Given the description of an element on the screen output the (x, y) to click on. 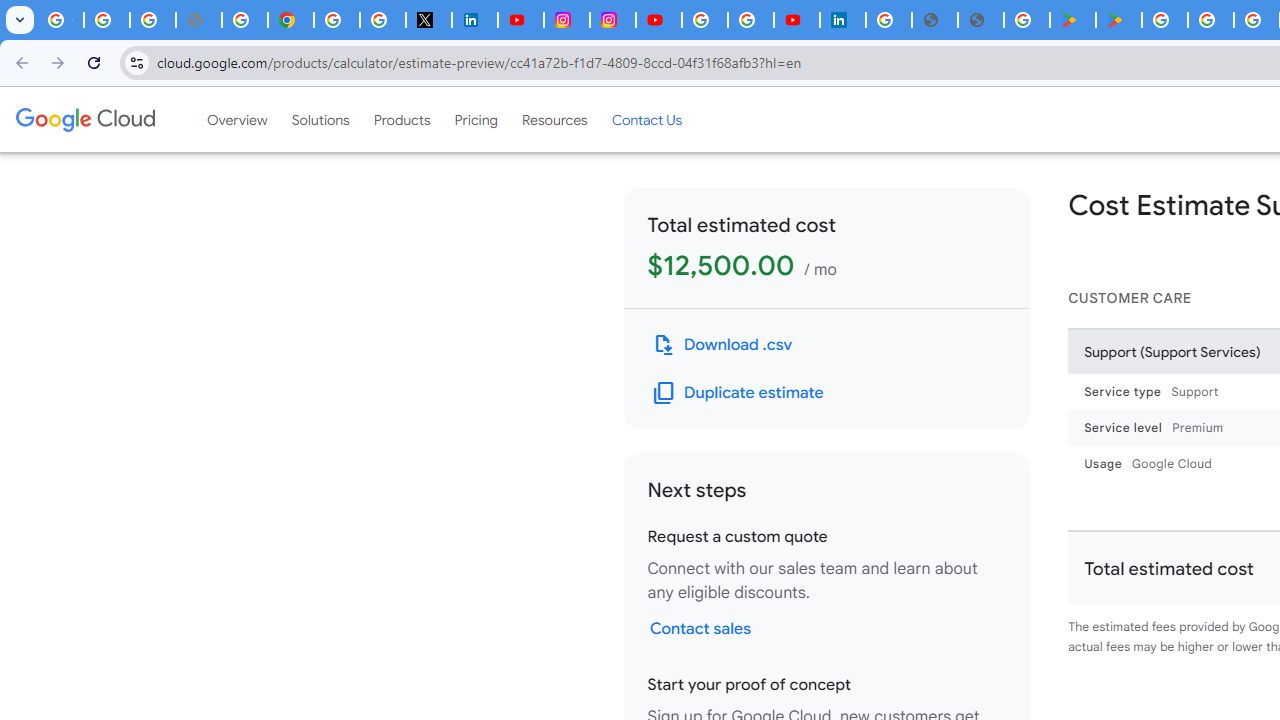
X (428, 20)
PAW Patrol Rescue World - Apps on Google Play (1118, 20)
LinkedIn Privacy Policy (474, 20)
Sign in - Google Accounts (336, 20)
